Given the description of an element on the screen output the (x, y) to click on. 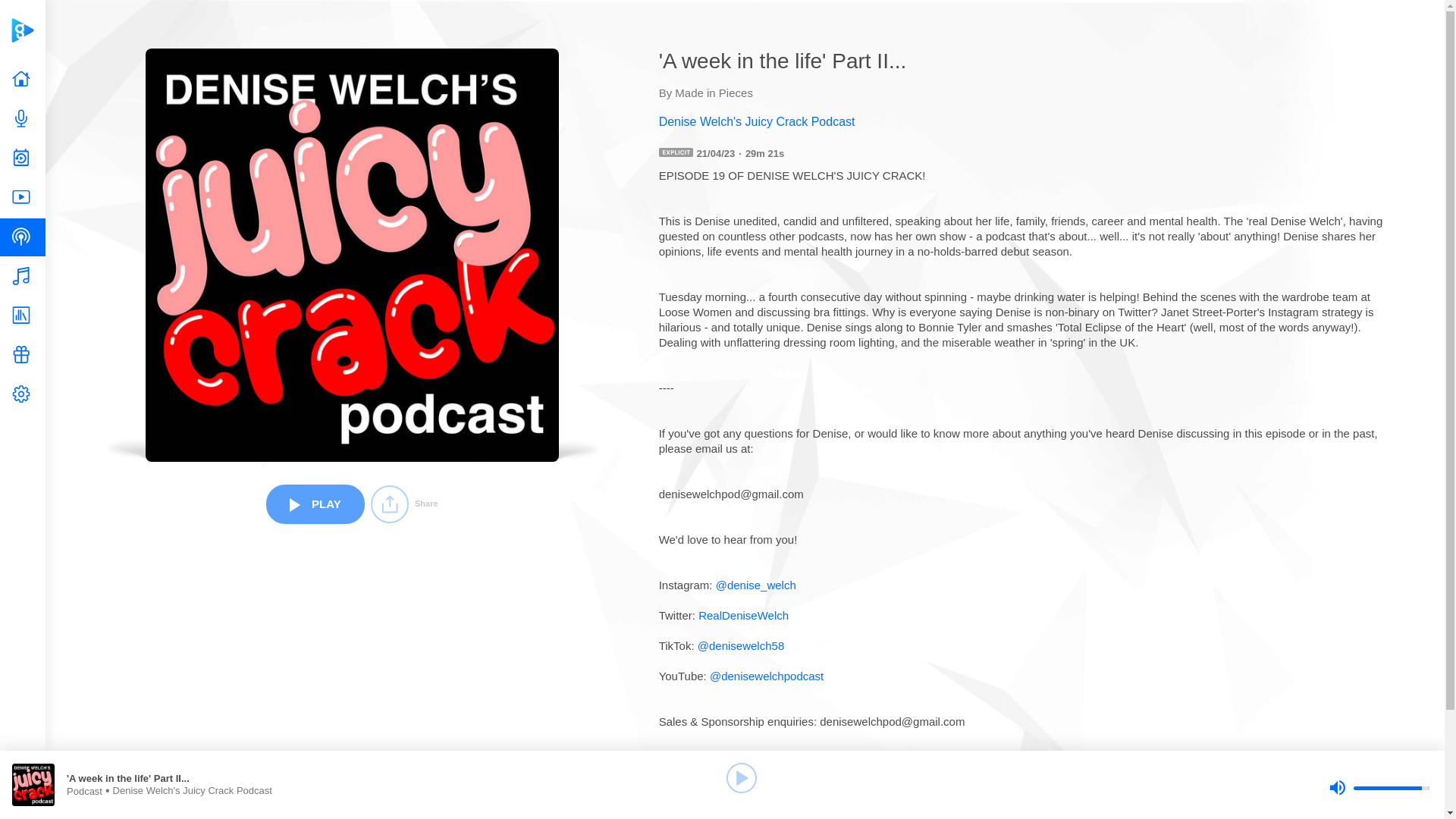
Global Player (22, 30)
PLAY (315, 503)
Play (741, 777)
RealDeniseWelch (743, 615)
Share (404, 504)
Denise Welch's Juicy Crack Podcast (1027, 121)
Mute (1336, 787)
'A week in the life' Part II... (213, 778)
Global Player (22, 30)
Share (404, 504)
